Given the description of an element on the screen output the (x, y) to click on. 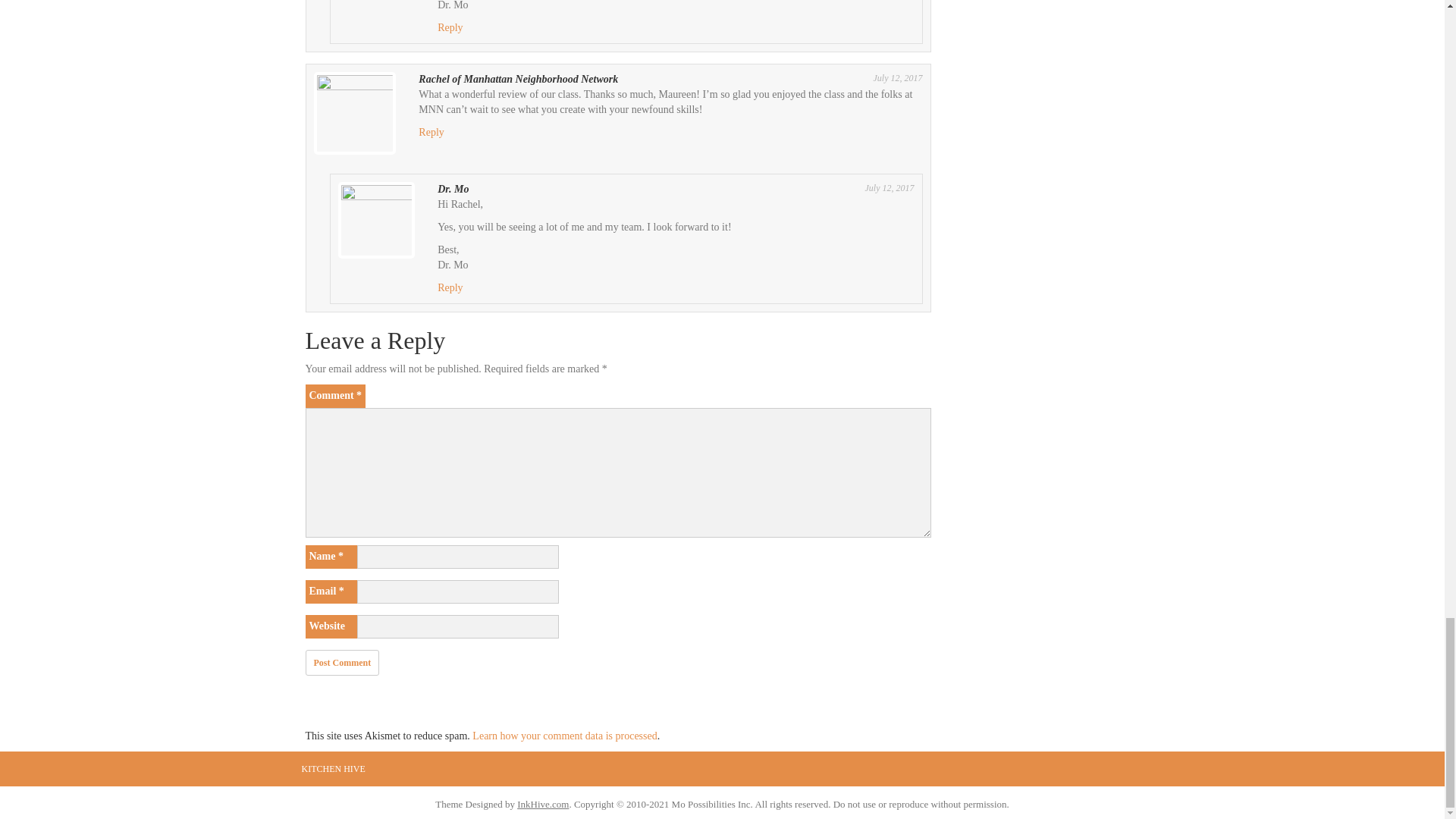
Reply (450, 287)
Post Comment (341, 662)
KITCHEN HIVE (333, 768)
InkHive.com (542, 803)
Learn how your comment data is processed (563, 736)
Reply (450, 27)
Post Comment (341, 662)
Reply (431, 132)
